Given the description of an element on the screen output the (x, y) to click on. 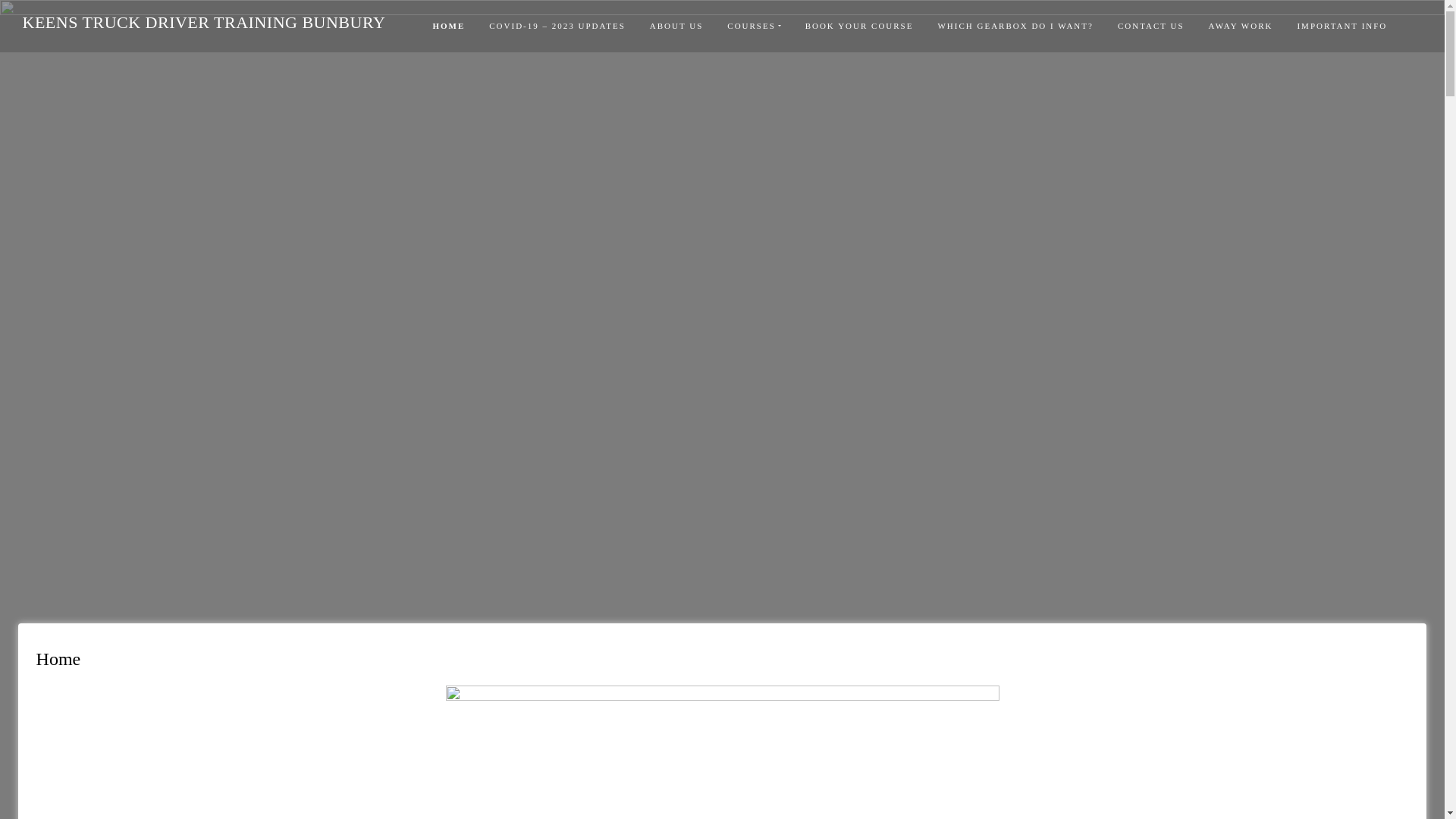
KEENS TRUCK DRIVER TRAINING BUNBURY Element type: text (203, 22)
CONTACT US Element type: text (1150, 25)
AWAY WORK Element type: text (1240, 25)
ABOUT US Element type: text (676, 25)
IMPORTANT INFO Element type: text (1341, 25)
BOOK YOUR COURSE Element type: text (859, 25)
WHICH GEARBOX DO I WANT? Element type: text (1014, 25)
COURSES Element type: text (753, 25)
HOME Element type: text (448, 25)
